Given the description of an element on the screen output the (x, y) to click on. 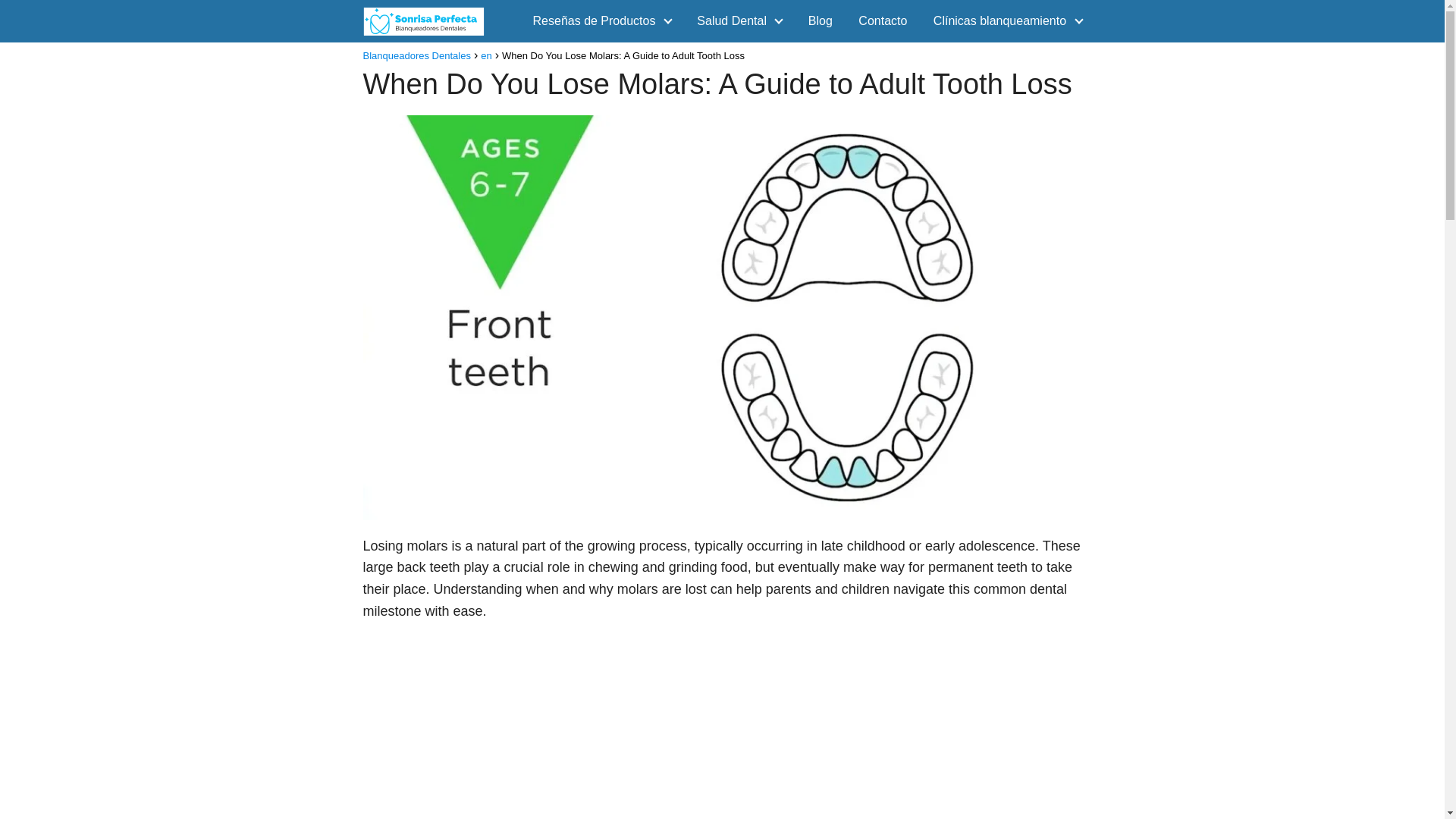
Blog (820, 20)
Salud Dental (735, 20)
Contacto (883, 20)
